Given the description of an element on the screen output the (x, y) to click on. 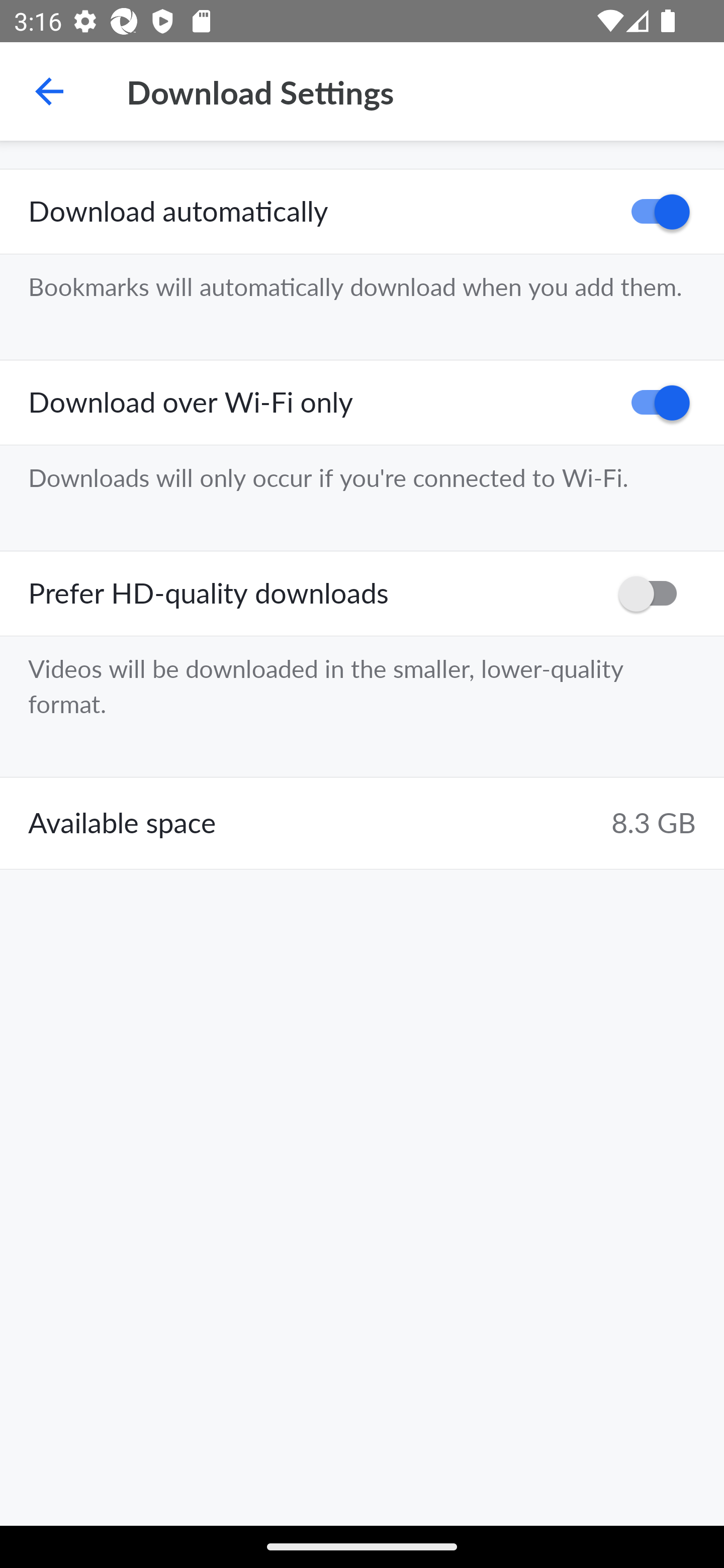
Navigate up (49, 91)
ON (653, 211)
ON (653, 402)
OFF (653, 593)
